Given the description of an element on the screen output the (x, y) to click on. 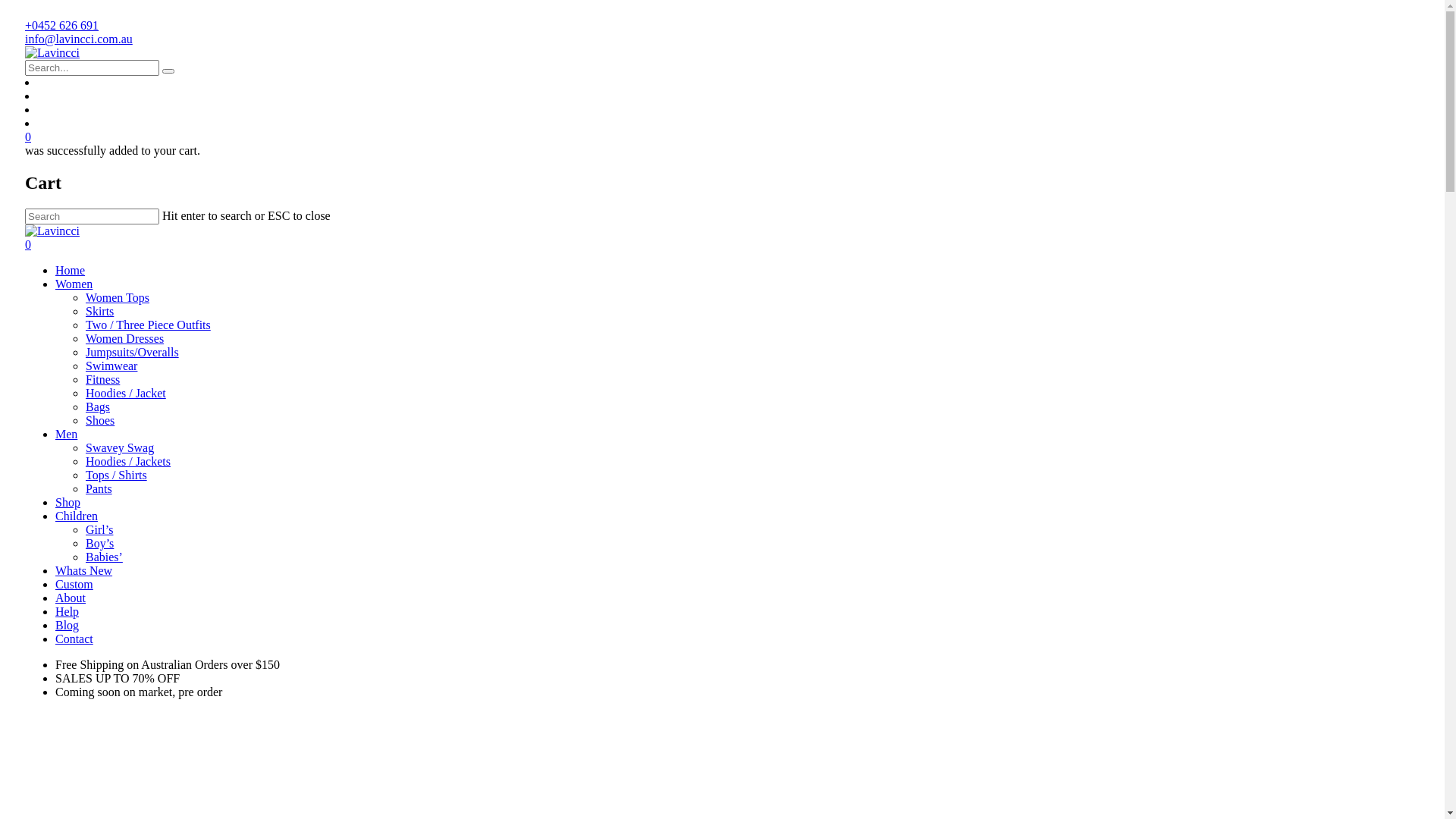
Search Element type: text (168, 71)
Help Element type: text (66, 611)
Whats New Element type: text (83, 570)
About Element type: text (70, 597)
0 Element type: text (722, 137)
Pants Element type: text (98, 488)
Blog Element type: text (66, 624)
Shoes Element type: text (99, 420)
0 Element type: text (722, 244)
Fitness Element type: text (102, 379)
Children Element type: text (76, 515)
Women Element type: text (73, 283)
+0452 626 691 Element type: text (61, 24)
Swimwear Element type: text (111, 365)
Hoodies / Jackets Element type: text (127, 461)
Custom Element type: text (74, 583)
Women Dresses Element type: text (124, 338)
Two / Three Piece Outfits Element type: text (147, 324)
Swavey Swag Element type: text (119, 447)
Tops / Shirts Element type: text (116, 474)
Contact Element type: text (74, 638)
Men Element type: text (66, 433)
Jumpsuits/Overalls Element type: text (131, 351)
Home Element type: text (69, 269)
info@lavincci.com.au Element type: text (78, 38)
Bags Element type: text (97, 406)
Hoodies / Jacket Element type: text (125, 392)
Women Tops Element type: text (117, 297)
Shop Element type: text (67, 501)
Skirts Element type: text (99, 310)
